Given the description of an element on the screen output the (x, y) to click on. 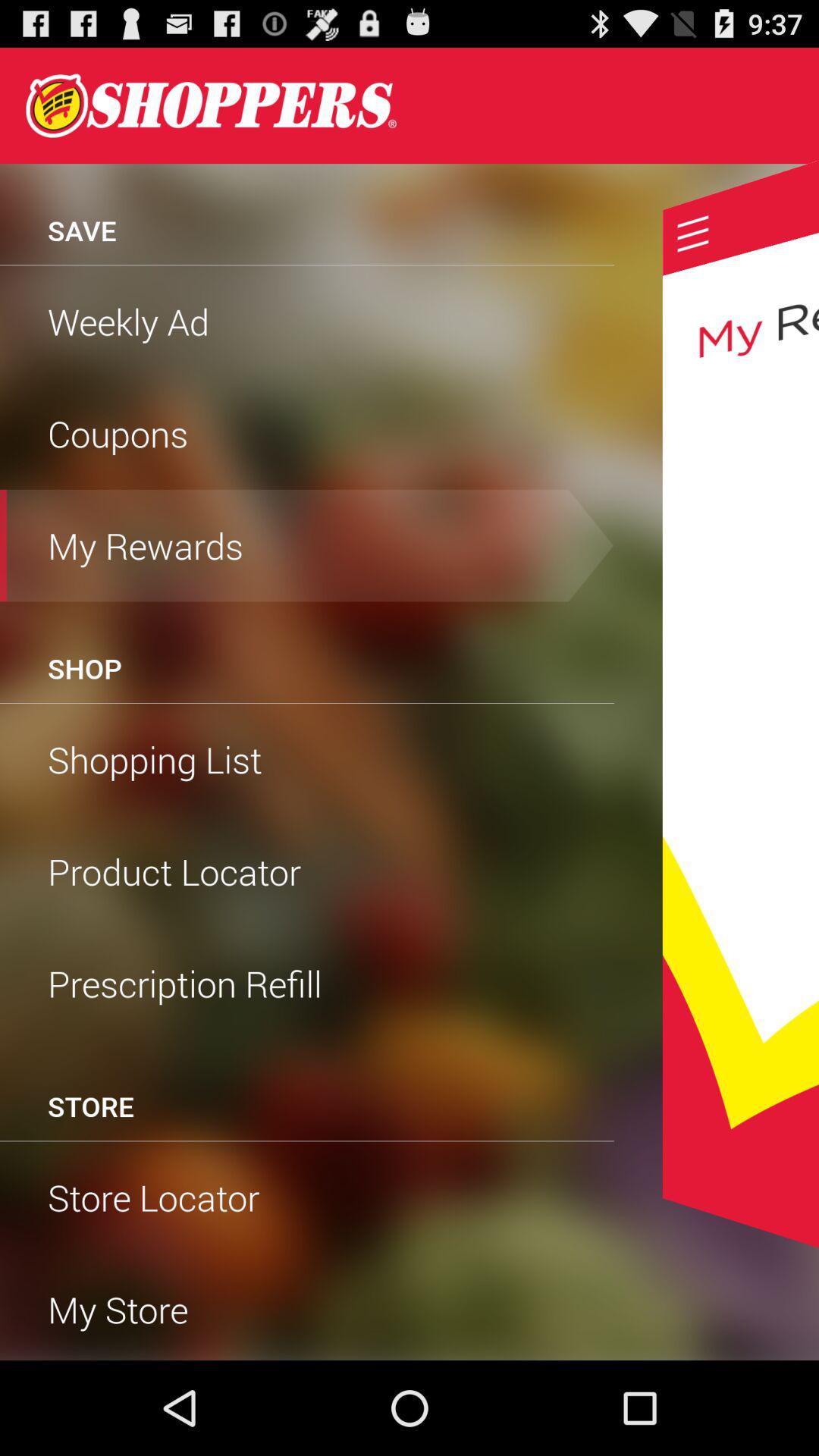
advertisement page (211, 105)
